Given the description of an element on the screen output the (x, y) to click on. 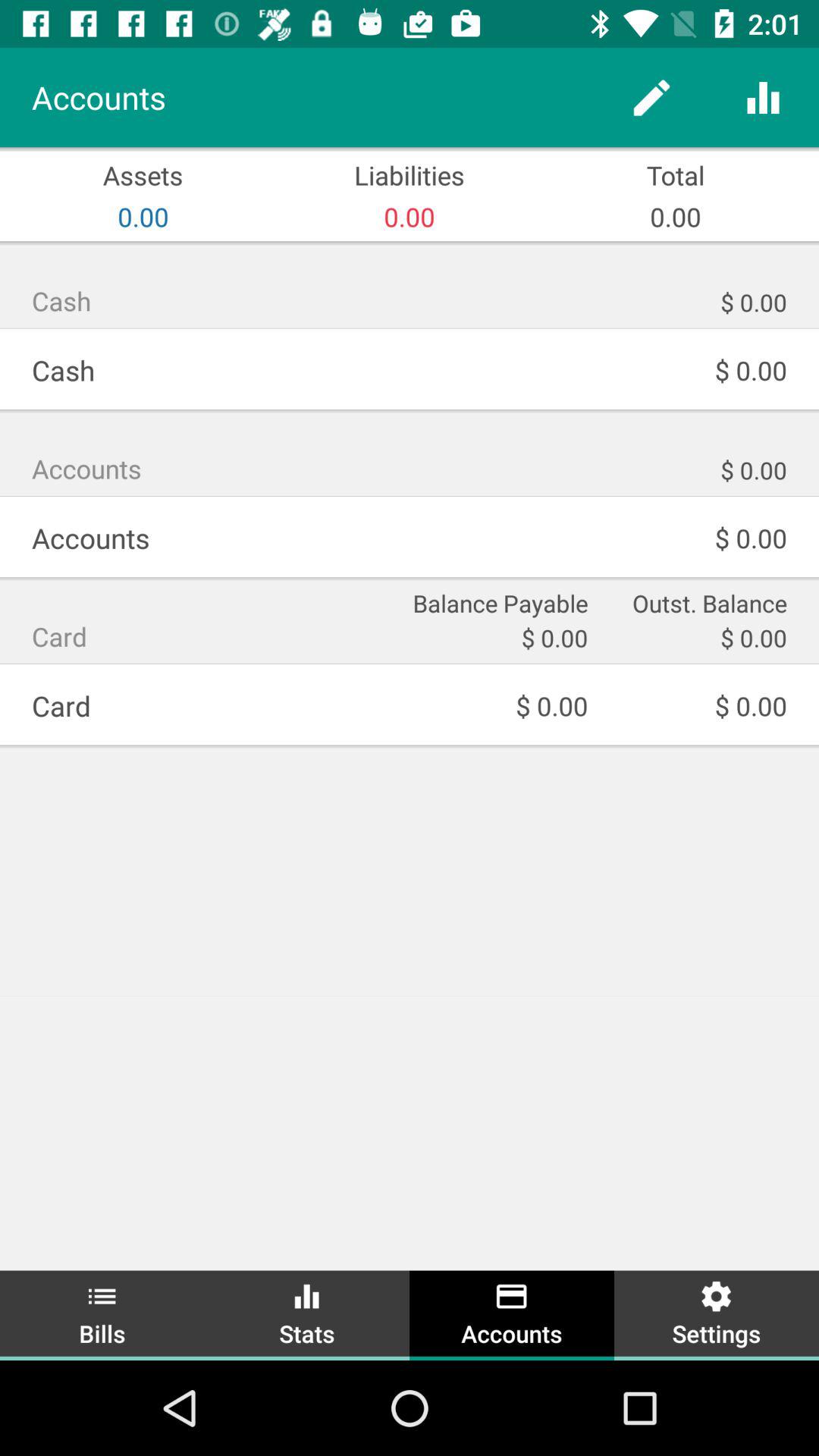
turn on settings item (716, 1313)
